Given the description of an element on the screen output the (x, y) to click on. 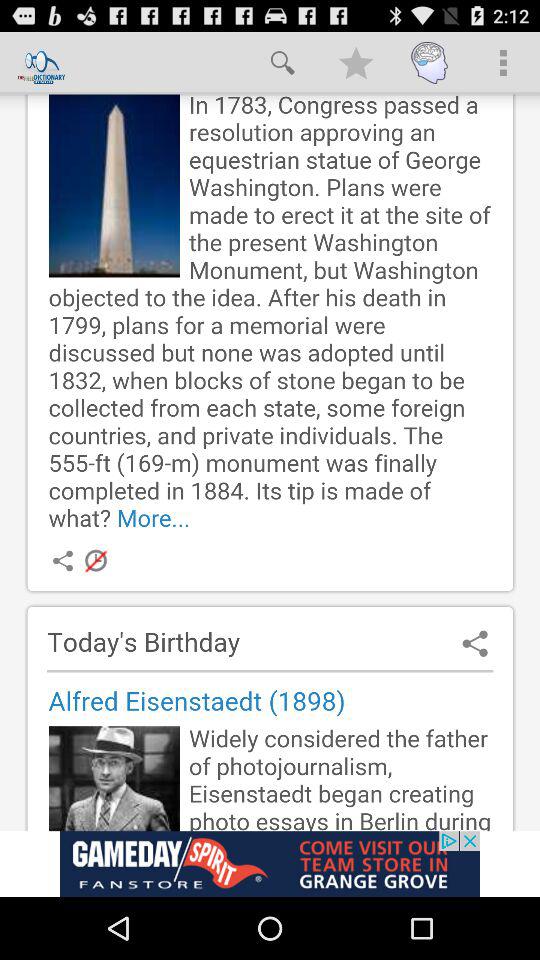
open advertisement (270, 864)
